Given the description of an element on the screen output the (x, y) to click on. 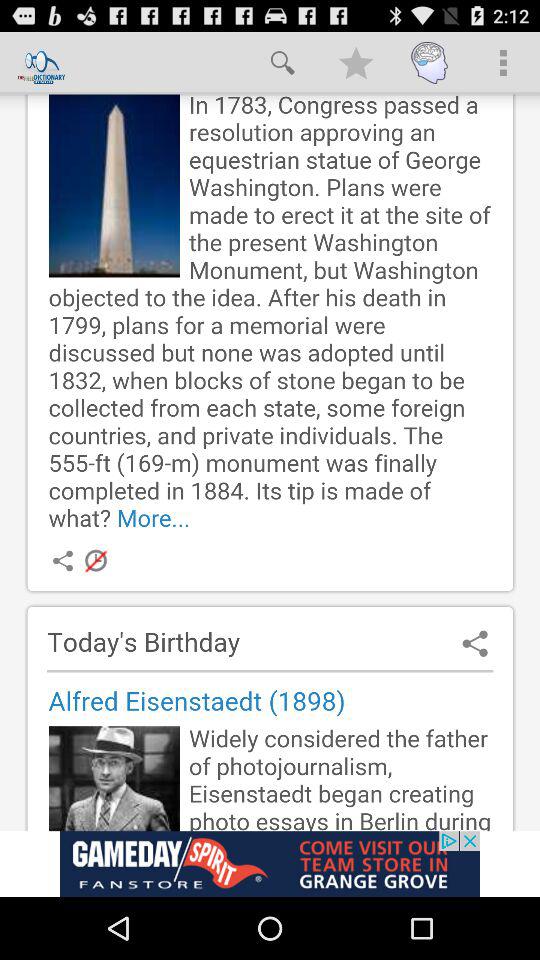
open advertisement (270, 864)
